Given the description of an element on the screen output the (x, y) to click on. 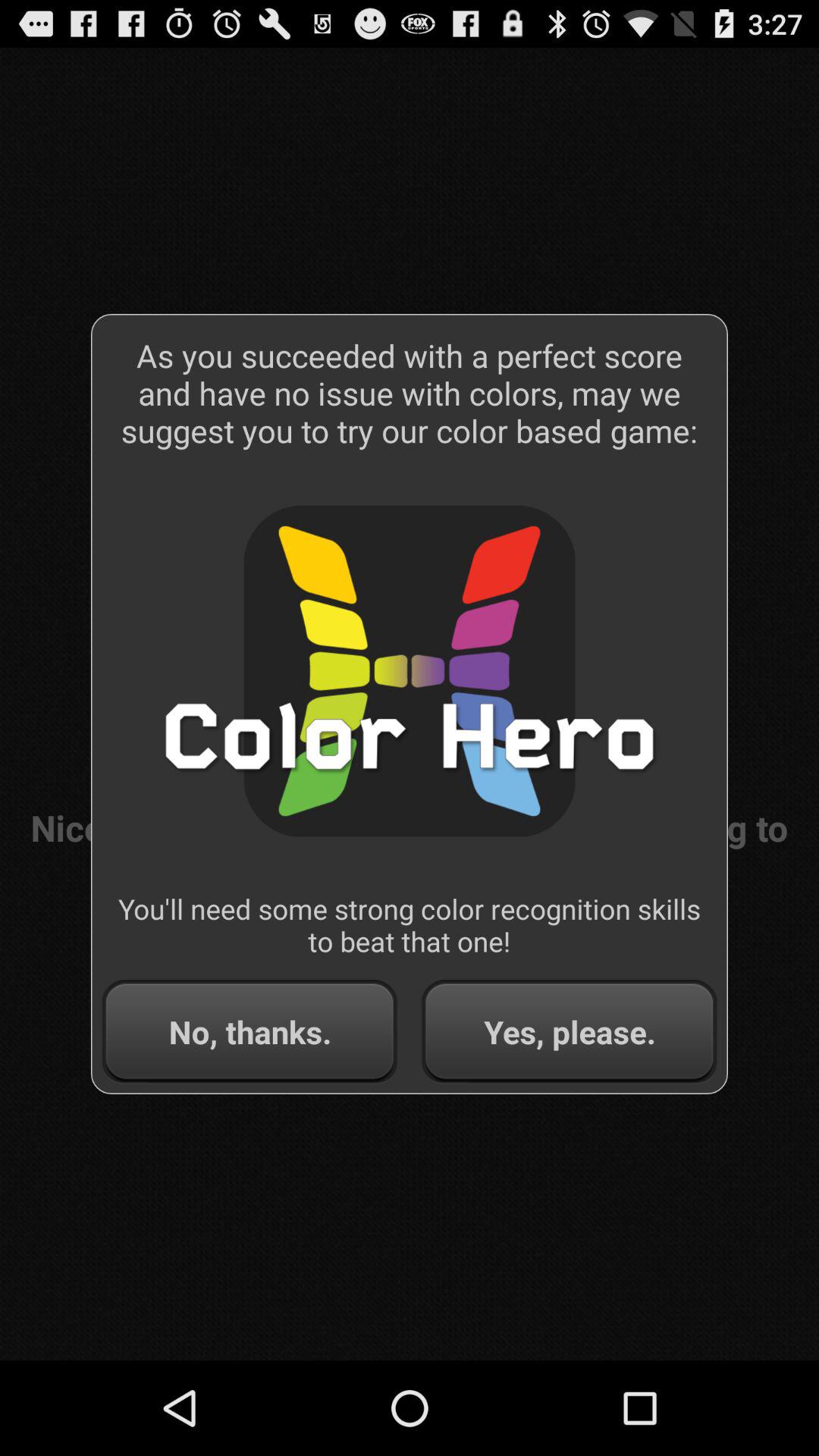
tap yes, please. (568, 1031)
